Given the description of an element on the screen output the (x, y) to click on. 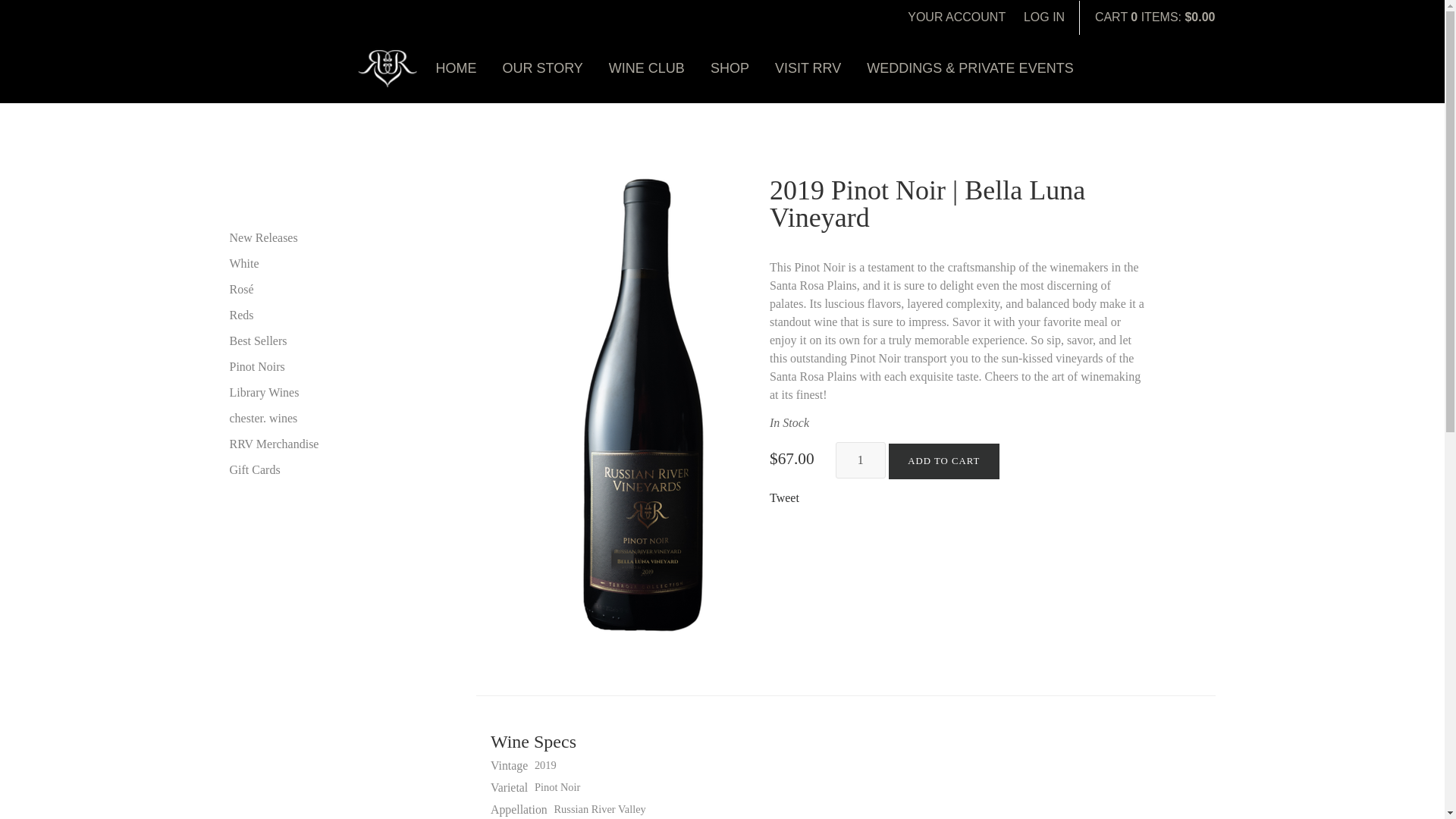
Best Sellers (314, 341)
VISIT RRV (807, 68)
RRV Merchandise (314, 443)
chester. wines (314, 418)
ADD TO CART (943, 460)
Library Wines (314, 393)
YOUR ACCOUNT (956, 16)
New Releases (314, 238)
1 (860, 460)
OUR STORY (542, 68)
White (314, 263)
Russian River Vineyards (386, 68)
Gift Cards (314, 470)
Pinot Noirs (314, 366)
Reds (314, 315)
